Given the description of an element on the screen output the (x, y) to click on. 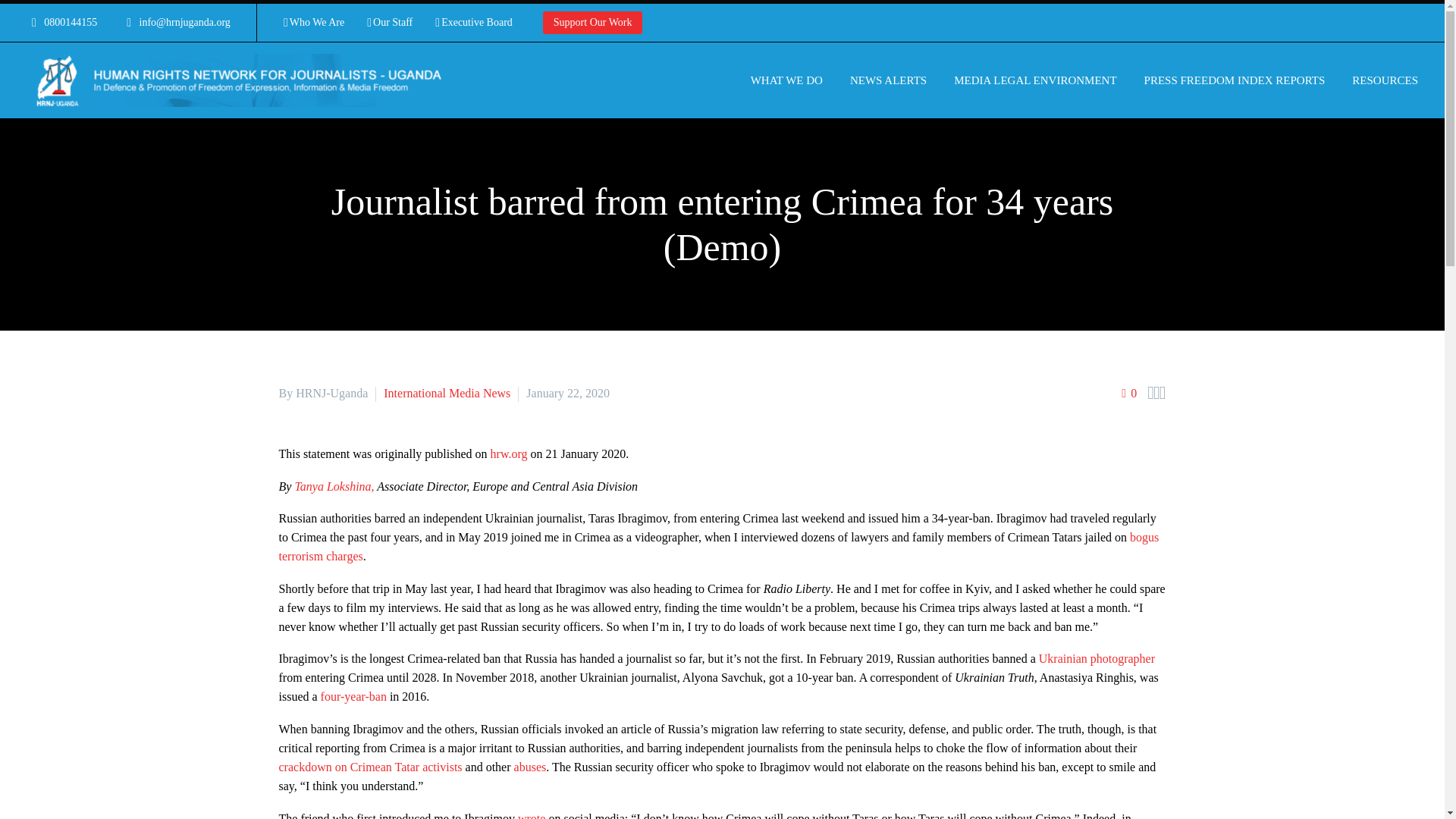
four-year-ban (353, 696)
Who We Are (313, 22)
Tanya Lokshina, (334, 486)
NEWS ALERTS (887, 80)
wrote (531, 815)
bogus terrorism charges (718, 546)
Ukrainian photographer (1096, 658)
RESOURCES (1384, 80)
crackdown on Crimean Tatar activists (371, 766)
PRESS FREEDOM INDEX REPORTS (1234, 80)
abuses (530, 766)
WHAT WE DO (786, 80)
View all posts in International Media News (447, 392)
MEDIA LEGAL ENVIRONMENT (1034, 80)
hrw.org (508, 453)
